Given the description of an element on the screen output the (x, y) to click on. 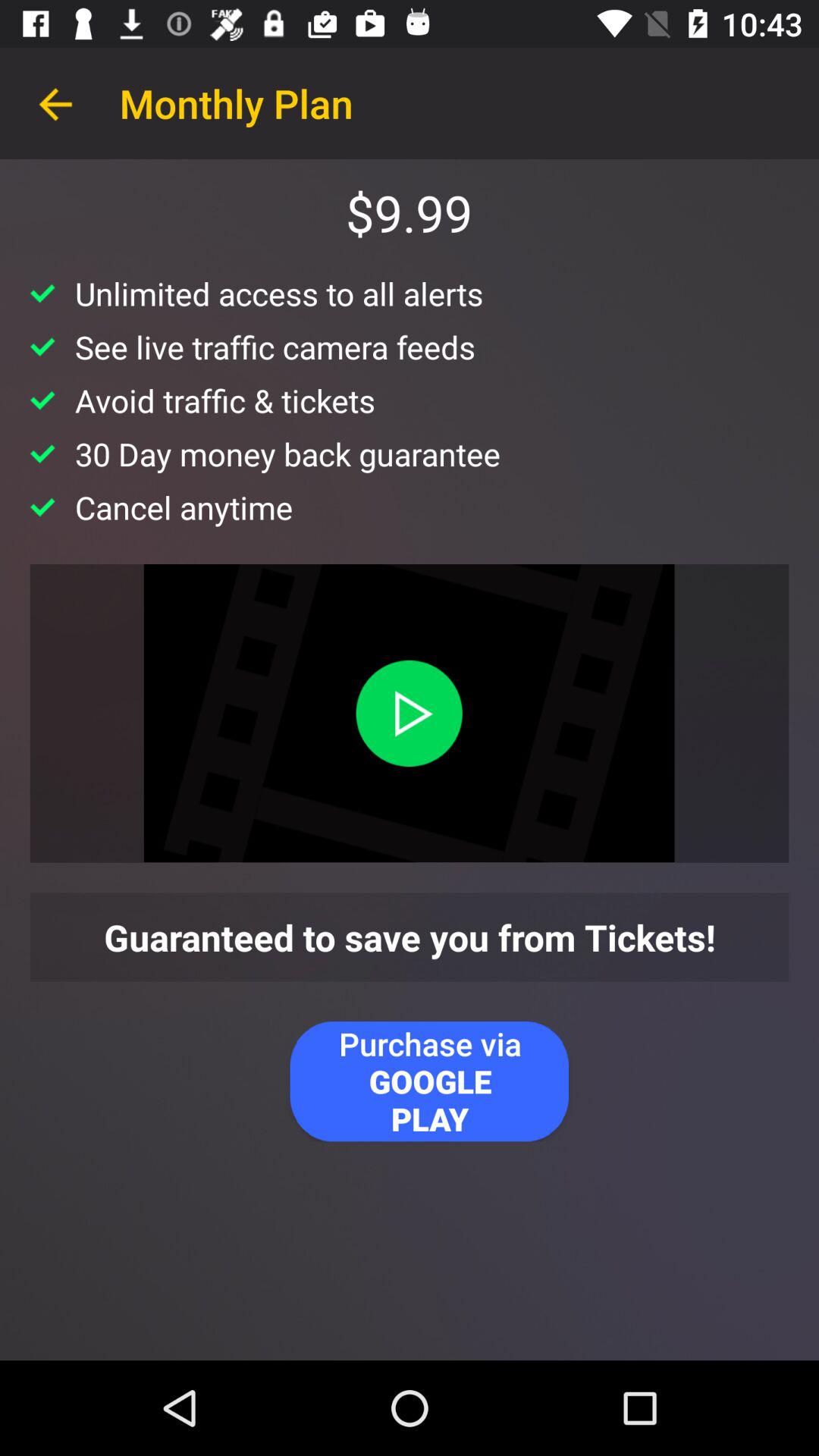
open the icon above guaranteed to save icon (409, 713)
